Given the description of an element on the screen output the (x, y) to click on. 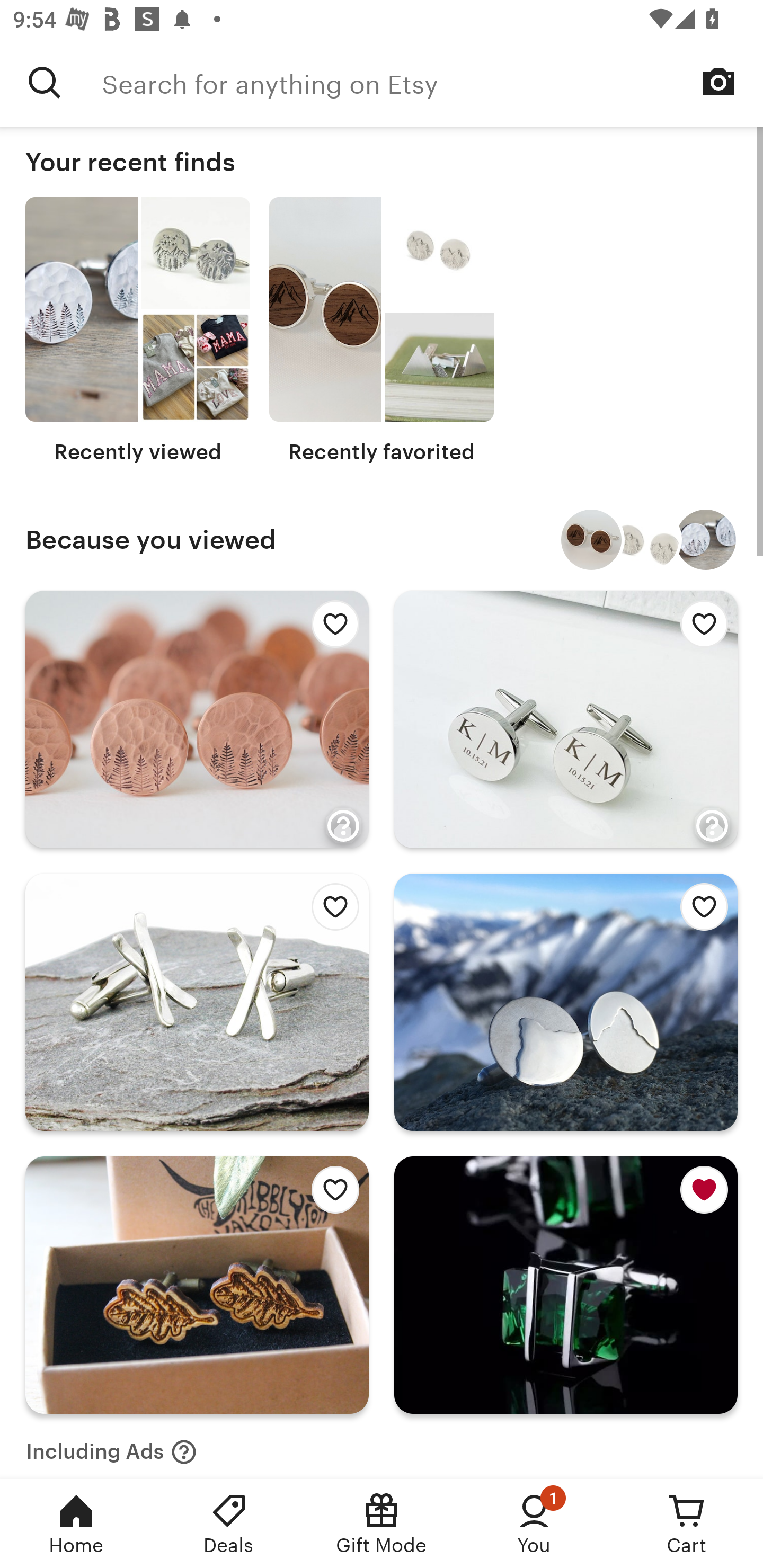
Search for anything on Etsy (44, 82)
Search by image (718, 81)
Search for anything on Etsy (432, 82)
Recently viewed (137, 330)
Recently favorited (381, 330)
Including Ads (111, 1446)
Deals (228, 1523)
Gift Mode (381, 1523)
You, 1 new notification You (533, 1523)
Cart (686, 1523)
